Given the description of an element on the screen output the (x, y) to click on. 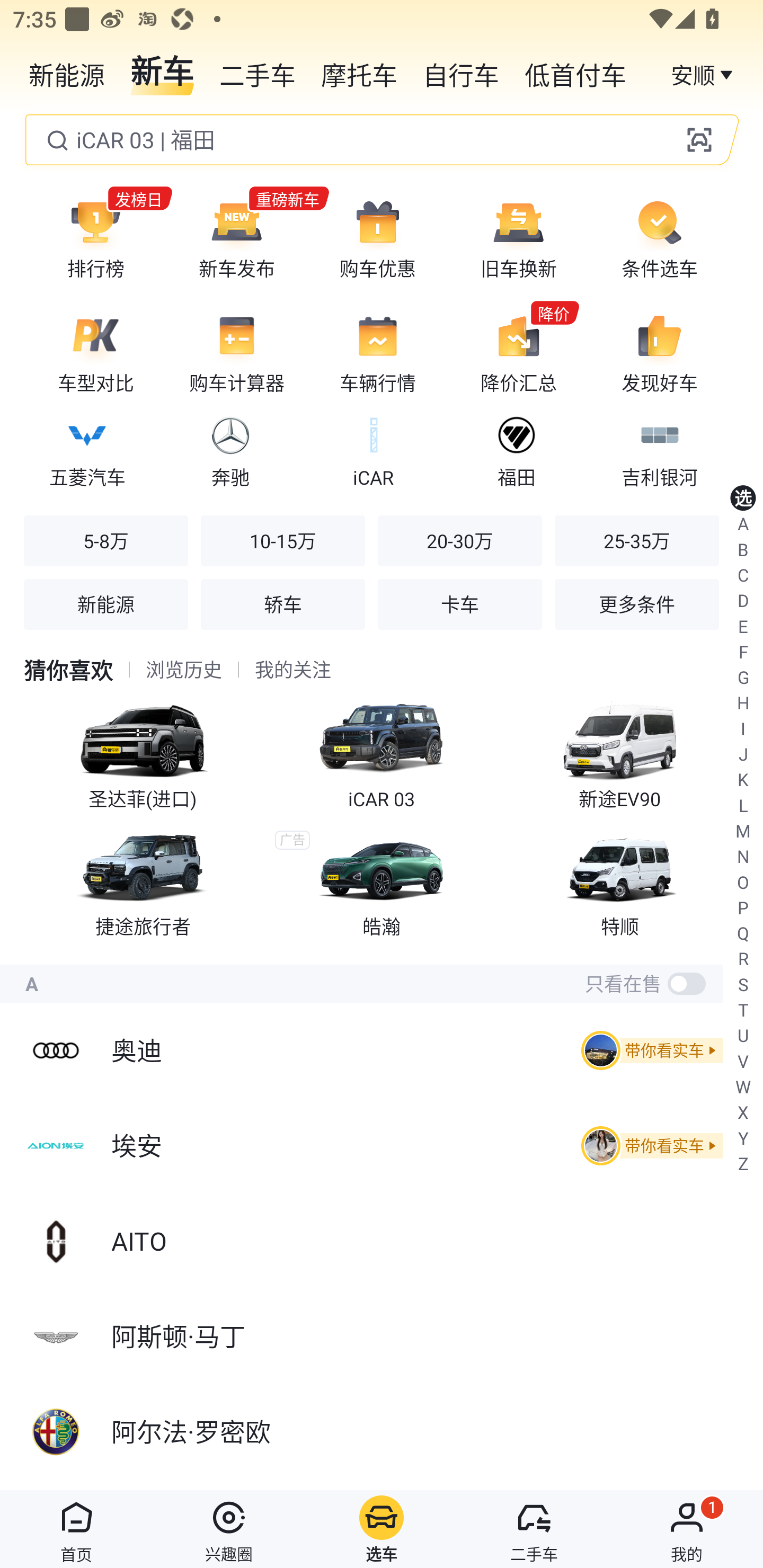
新能源 (66, 72)
新车 (161, 72)
二手车 (257, 72)
摩托车 (359, 72)
自行车 (460, 72)
低首付车 (575, 72)
安顺 (703, 72)
发榜日 排行榜 (95, 238)
重磅新车 新车发布 (236, 238)
购车优惠 (377, 238)
旧车换新 (518, 238)
条件选车 (659, 238)
车型对比 (95, 352)
购车计算器 (236, 352)
车辆行情 (377, 352)
降价 降价汇总 (518, 352)
发现好车 (659, 352)
五菱汽车 (87, 449)
奔驰 (230, 449)
iCAR (373, 449)
福田 (516, 449)
吉利银河 (659, 449)
5-8万 (105, 540)
10-15万 (282, 540)
20-30万 (459, 540)
25-35万 (636, 540)
新能源 (105, 604)
轿车 (282, 604)
卡车 (459, 604)
更多条件 (636, 604)
猜你喜欢 (67, 669)
浏览历史 (183, 669)
我的关注 (292, 669)
圣达菲(进口) (142, 750)
iCAR 03 (381, 750)
新途EV90 (619, 750)
捷途旅行者 (142, 881)
皓瀚 广告 (381, 881)
特顺 (619, 881)
奥迪 带你看实车  (381, 1050)
带你看实车  (649, 1050)
埃安 带你看实车  (381, 1145)
带你看实车  (649, 1146)
AITO (381, 1240)
阿斯顿·马丁 (381, 1336)
阿尔法·罗密欧 (381, 1432)
 首页 (76, 1528)
 兴趣圈 (228, 1528)
选车 (381, 1528)
 二手车 (533, 1528)
 我的 (686, 1528)
